Given the description of an element on the screen output the (x, y) to click on. 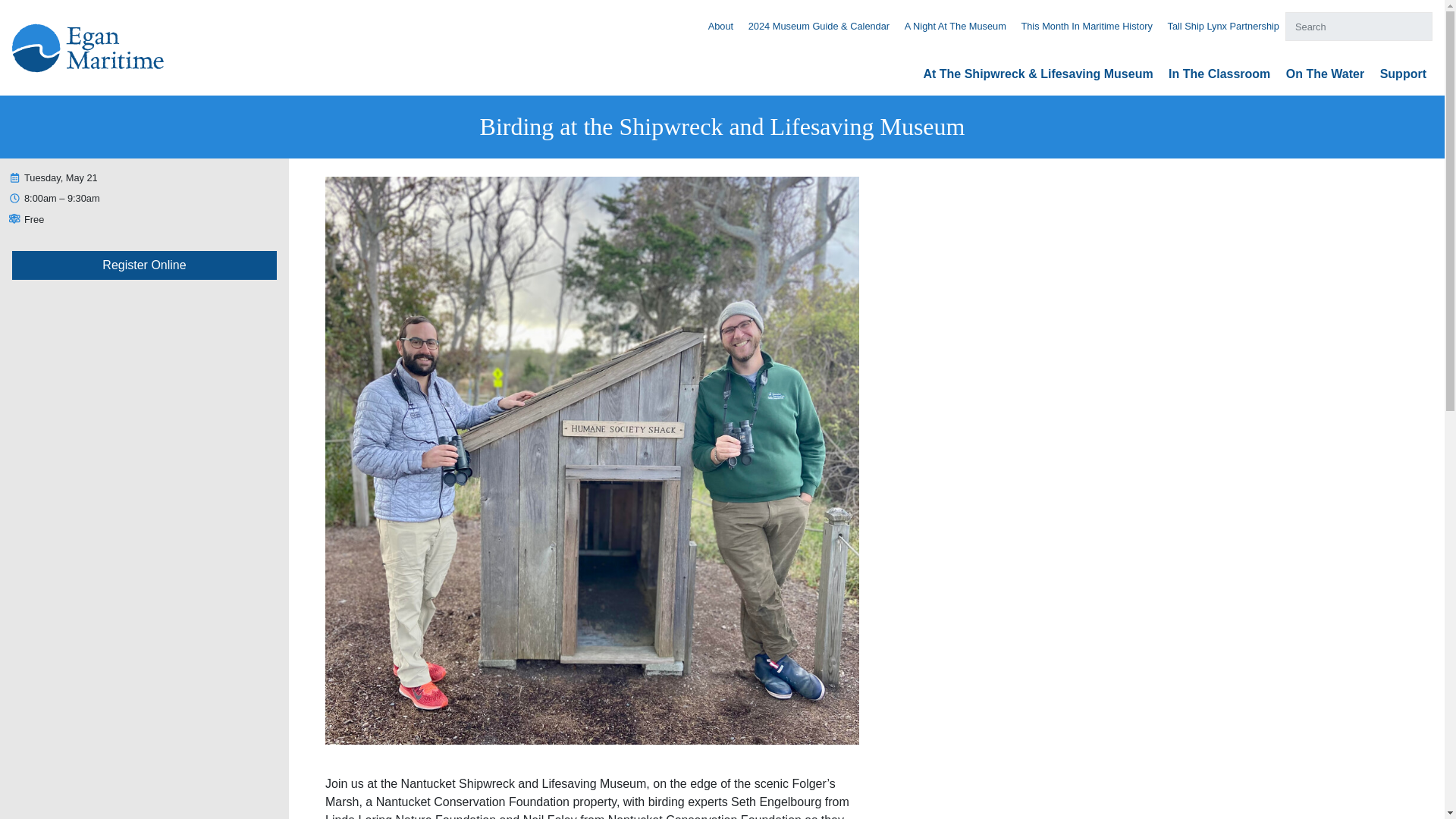
This Month In Maritime History (1086, 25)
In The Classroom (1219, 73)
About (720, 25)
Support (1403, 73)
Register Online (143, 265)
Tall Ship Lynx Partnership (1223, 25)
On The Water (1324, 73)
A Night At The Museum (955, 25)
